Given the description of an element on the screen output the (x, y) to click on. 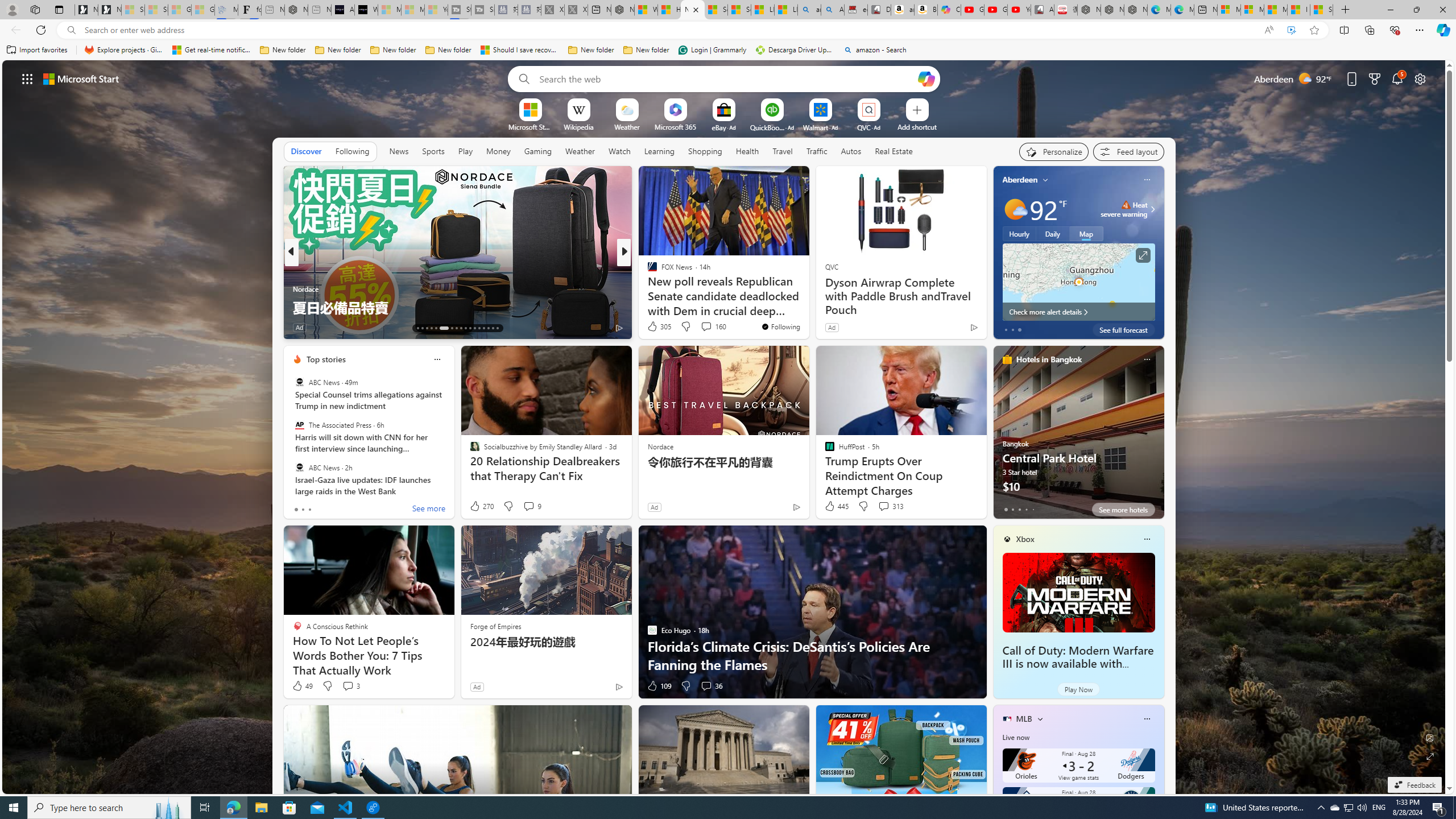
See full forecast (1123, 329)
X - Sleeping (575, 9)
View comments 36 Comment (705, 685)
Heat - Severe (1126, 204)
Microsoft account | Privacy (1252, 9)
445 Like (835, 505)
View comments 107 Comment (703, 327)
124 Like (654, 327)
Aberdeen (1019, 179)
